Given the description of an element on the screen output the (x, y) to click on. 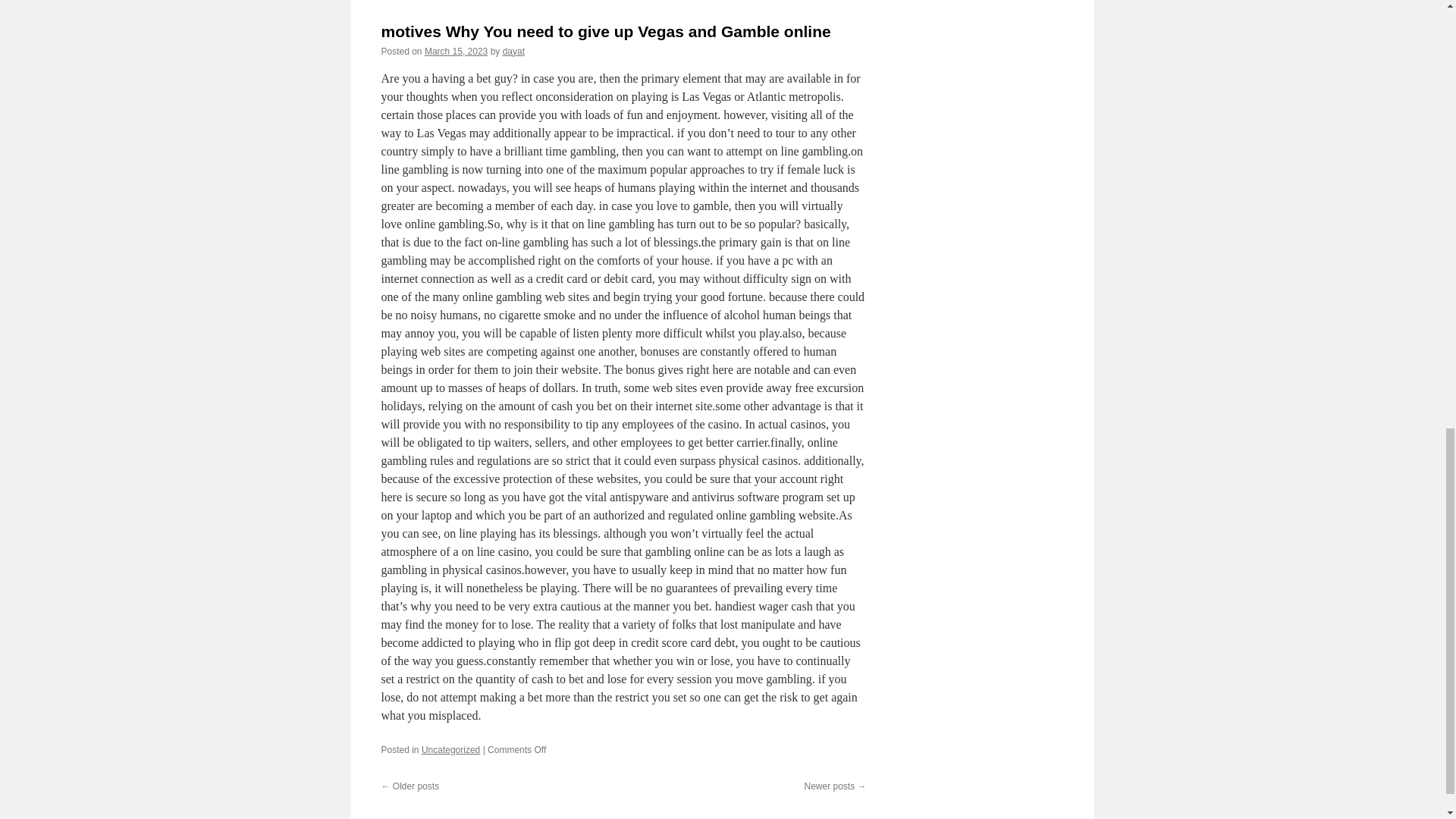
dayat (513, 50)
motives Why You need to give up Vegas and Gamble online (604, 31)
March 15, 2023 (456, 50)
Uncategorized (451, 749)
View all posts by dayat (513, 50)
1:36 pm (456, 50)
